Given the description of an element on the screen output the (x, y) to click on. 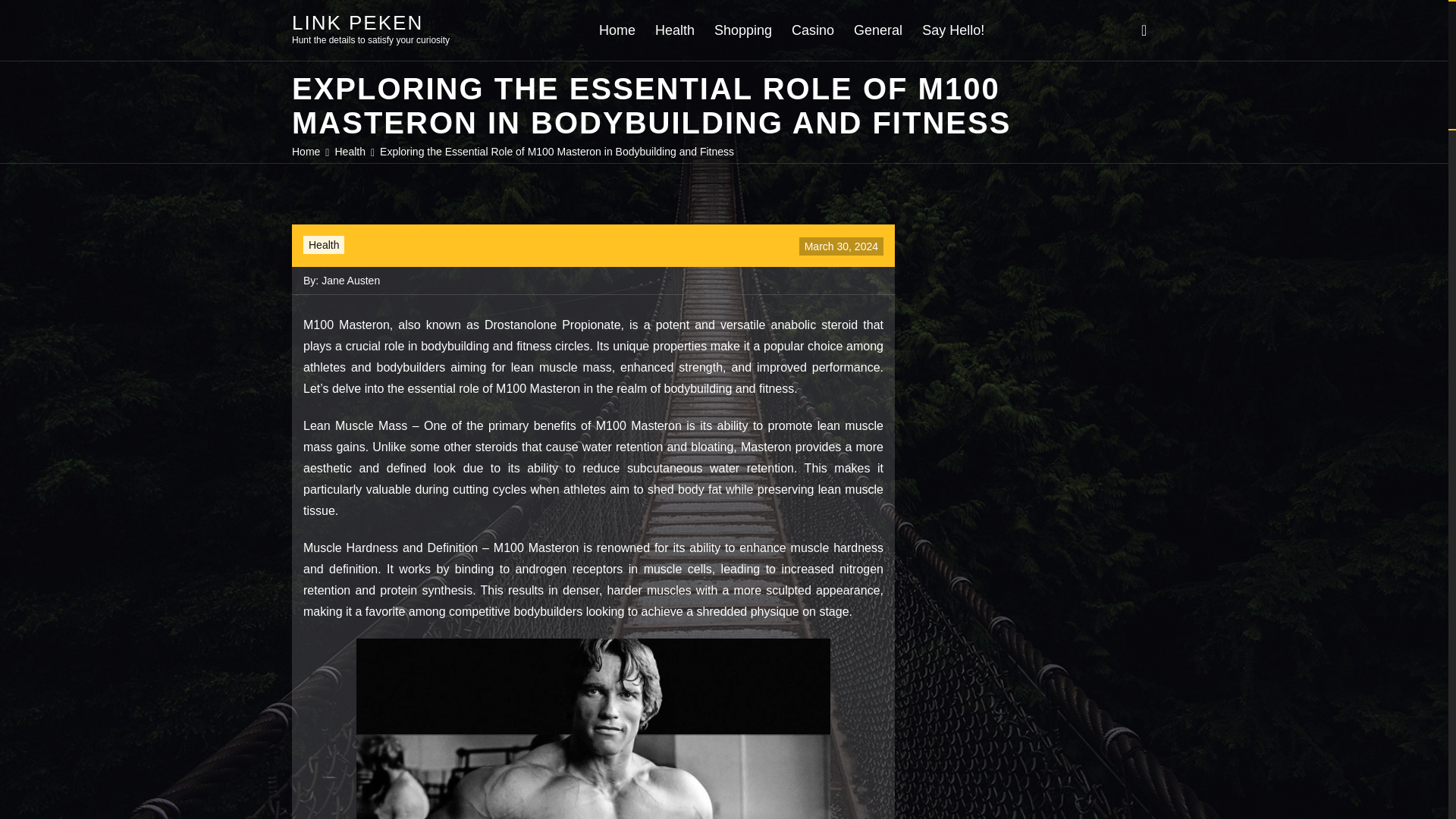
Casino (813, 29)
Health (674, 29)
General (877, 29)
Shopping (742, 29)
Health (323, 244)
Jane Austen (350, 280)
Home (616, 29)
Home (306, 151)
Health (349, 151)
LINK PEKEN (357, 21)
